Given the description of an element on the screen output the (x, y) to click on. 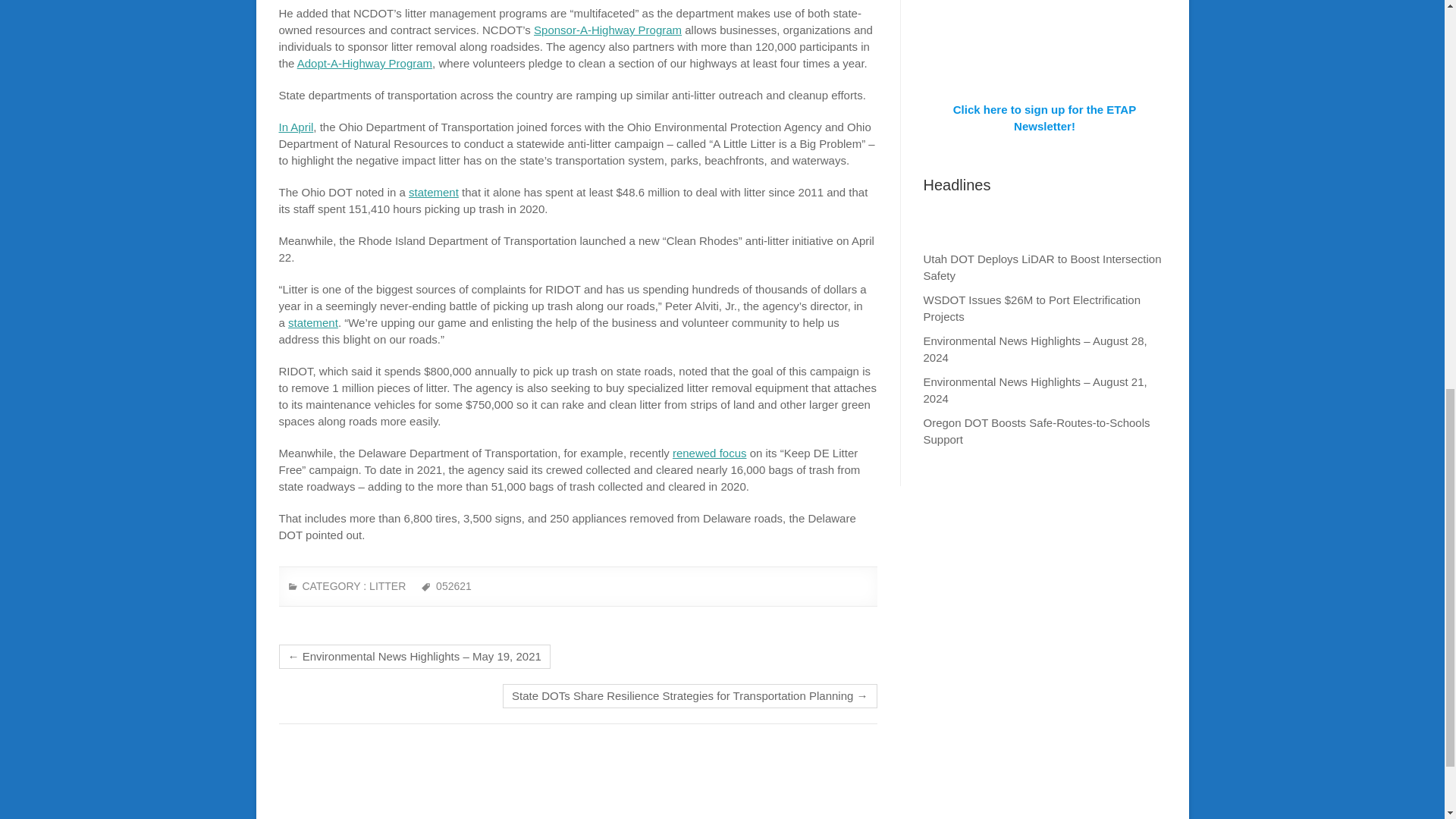
renewed focus (709, 452)
LITTER (387, 592)
statement (312, 322)
Sponsor-A-Highway Program (607, 29)
In April (296, 126)
Utah DOT Deploys LiDAR to Boost Intersection Safety (1044, 267)
statement (433, 192)
Adopt-A-Highway Program (364, 62)
052621 (453, 592)
Oregon DOT Boosts Safe-Routes-to-Schools Support (1044, 430)
